Given the description of an element on the screen output the (x, y) to click on. 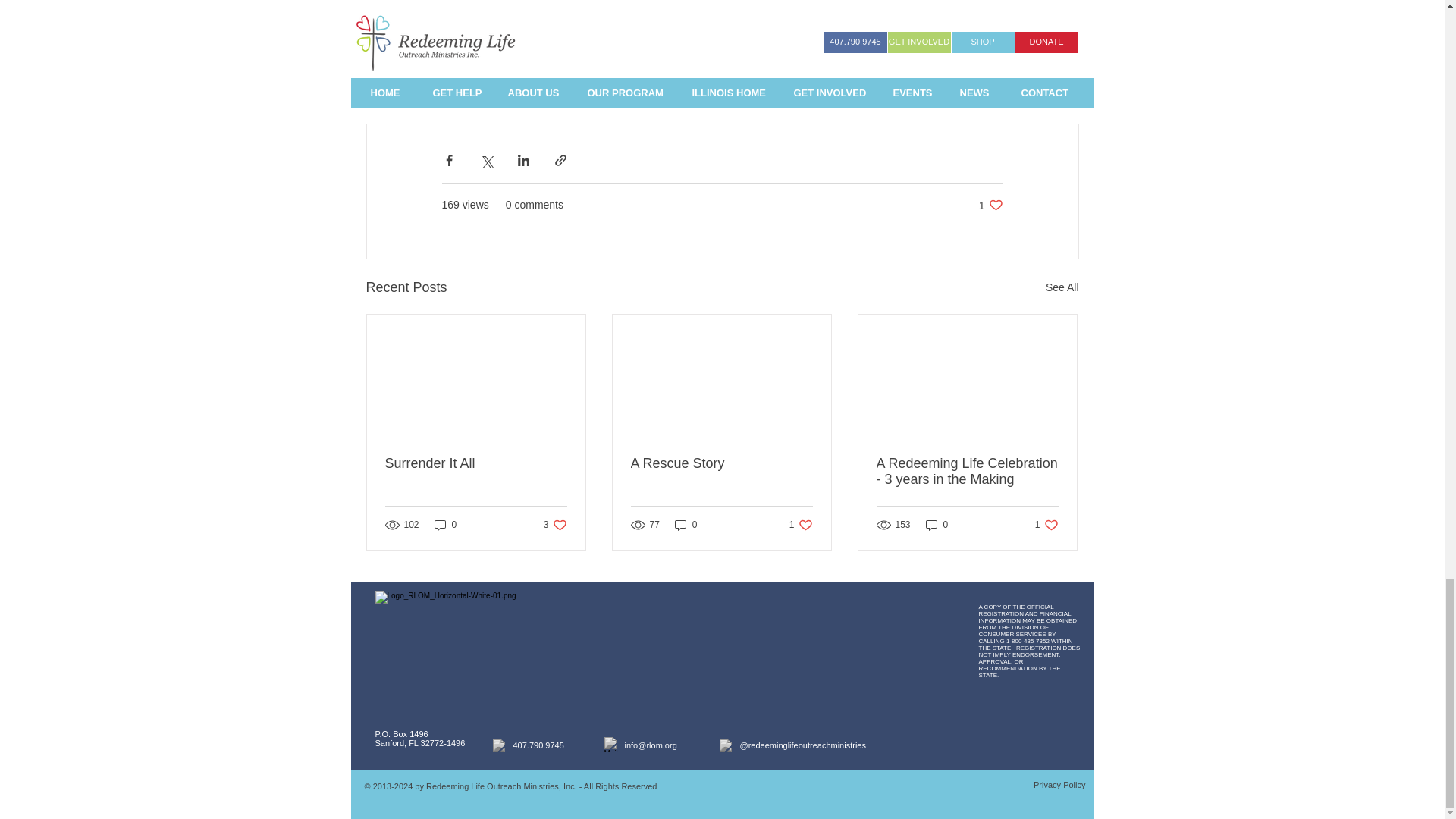
Surrender It All (476, 463)
See All (990, 205)
0 (1061, 287)
